Given the description of an element on the screen output the (x, y) to click on. 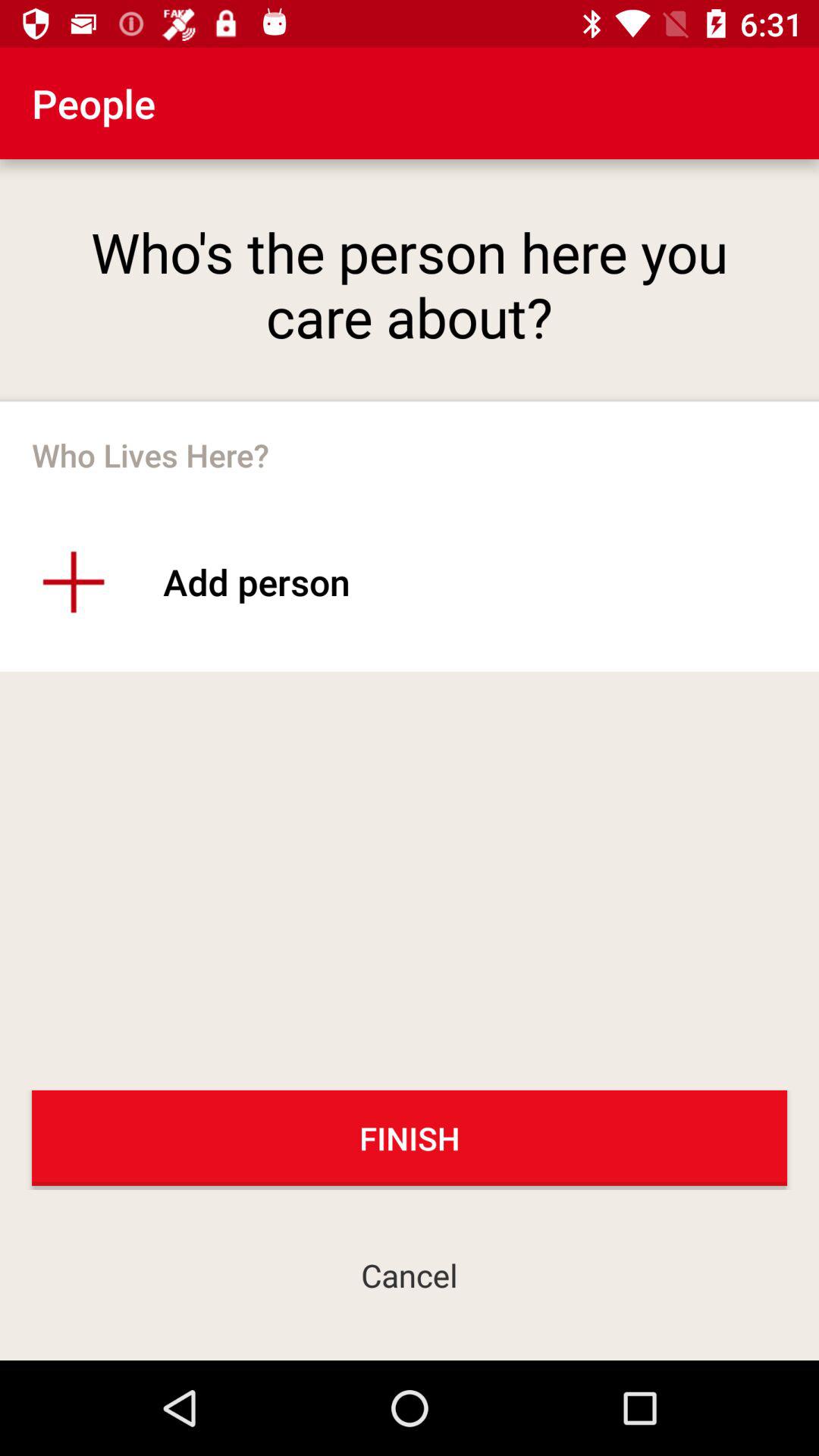
tap icon above cancel icon (409, 1137)
